Given the description of an element on the screen output the (x, y) to click on. 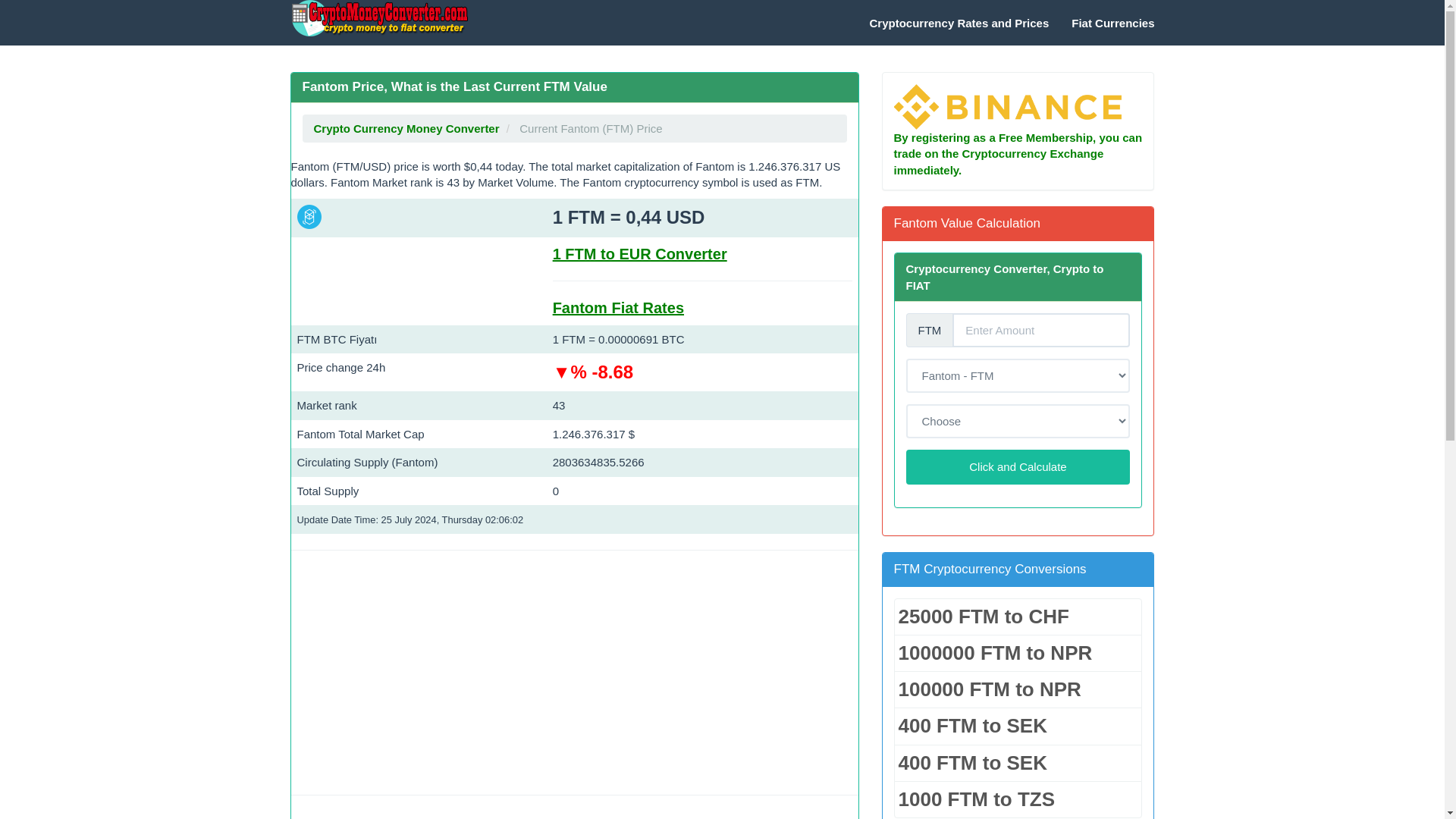
400 FTM to SEK Convert (1017, 763)
Crypto Currency Money Converter (378, 18)
Fantom Fiat Rates (618, 307)
Fiat Currencies (1112, 22)
100000 FTM to NPR (1017, 689)
400 FTM to SEK (1017, 725)
400 FTM to SEK Convert (1017, 725)
400 FTM to SEK (1017, 763)
Advertisement (575, 672)
1000 FTM to TZS (1017, 799)
1000 FTM to TZS Convert (1017, 799)
1000000 FTM to NPR (1017, 652)
1000000 FTM to NPR Convert (1017, 652)
25000 FTM to CHF (1017, 616)
